Given the description of an element on the screen output the (x, y) to click on. 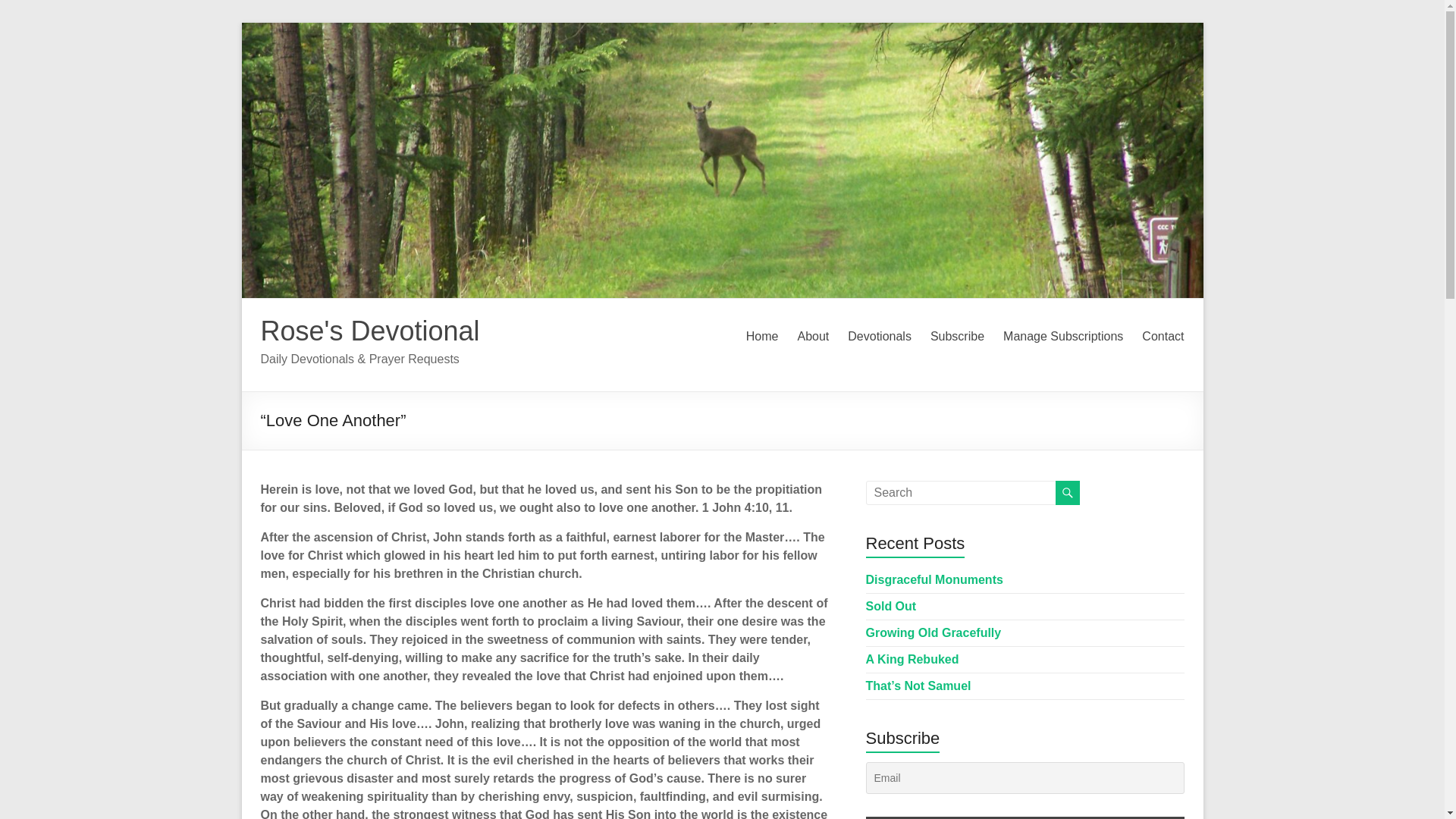
A King Rebuked (912, 658)
Disgraceful Monuments (934, 579)
Home (761, 336)
Subscribe (957, 336)
Rose's Devotional (370, 330)
About (812, 336)
Devotionals (879, 336)
Sold Out (891, 605)
Rose's Devotional (370, 330)
Manage Subscriptions (1062, 336)
Growing Old Gracefully (933, 632)
Contact (1162, 336)
